Given the description of an element on the screen output the (x, y) to click on. 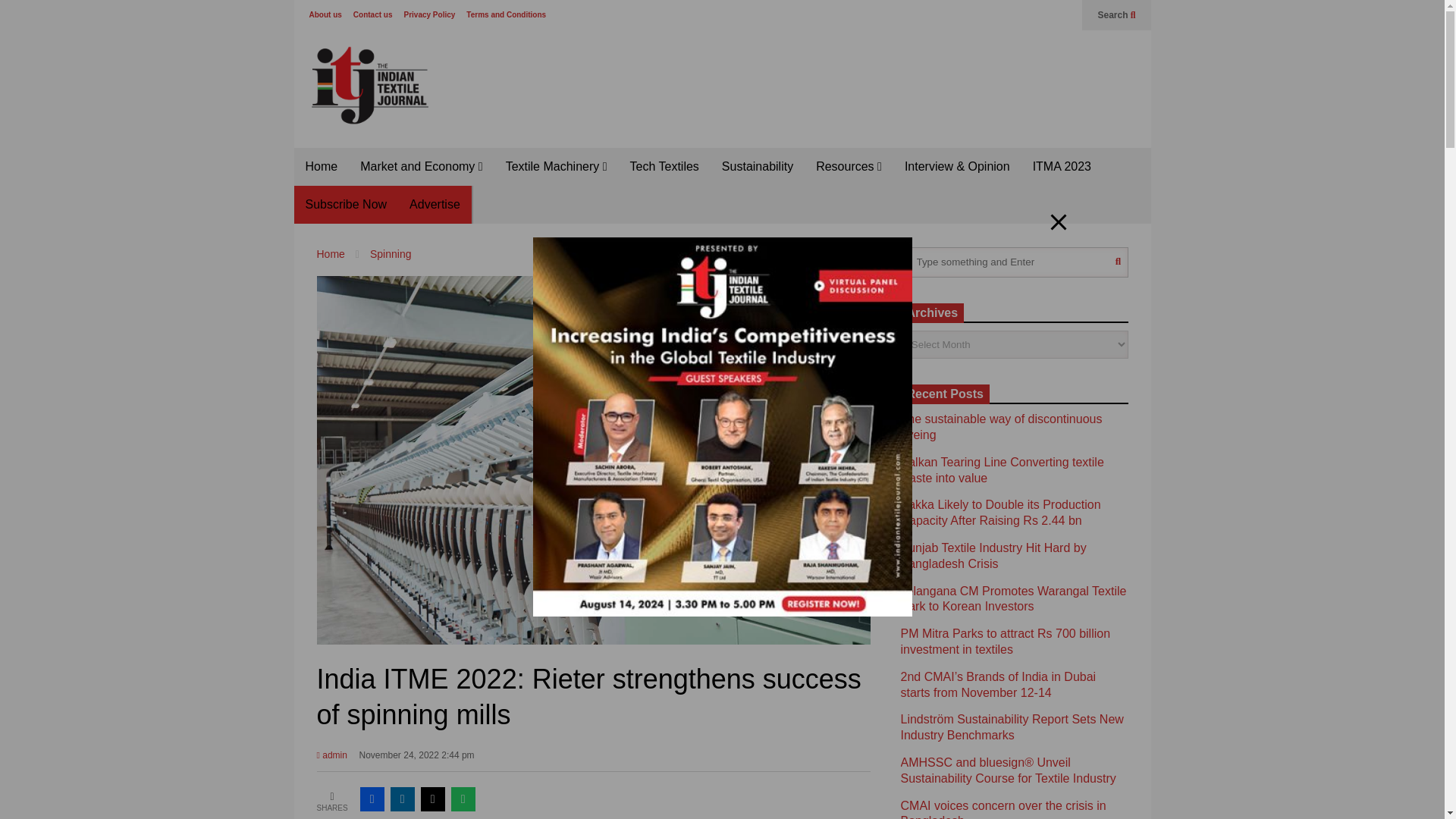
Market and Economy (421, 166)
Subscribe Now (346, 204)
Share this on X (432, 799)
Advertise (434, 204)
Textile Machinery (556, 166)
Share this on Facebook (371, 799)
Contact us (373, 14)
Add this to LinkedIn (402, 799)
Resources (849, 166)
